Given the description of an element on the screen output the (x, y) to click on. 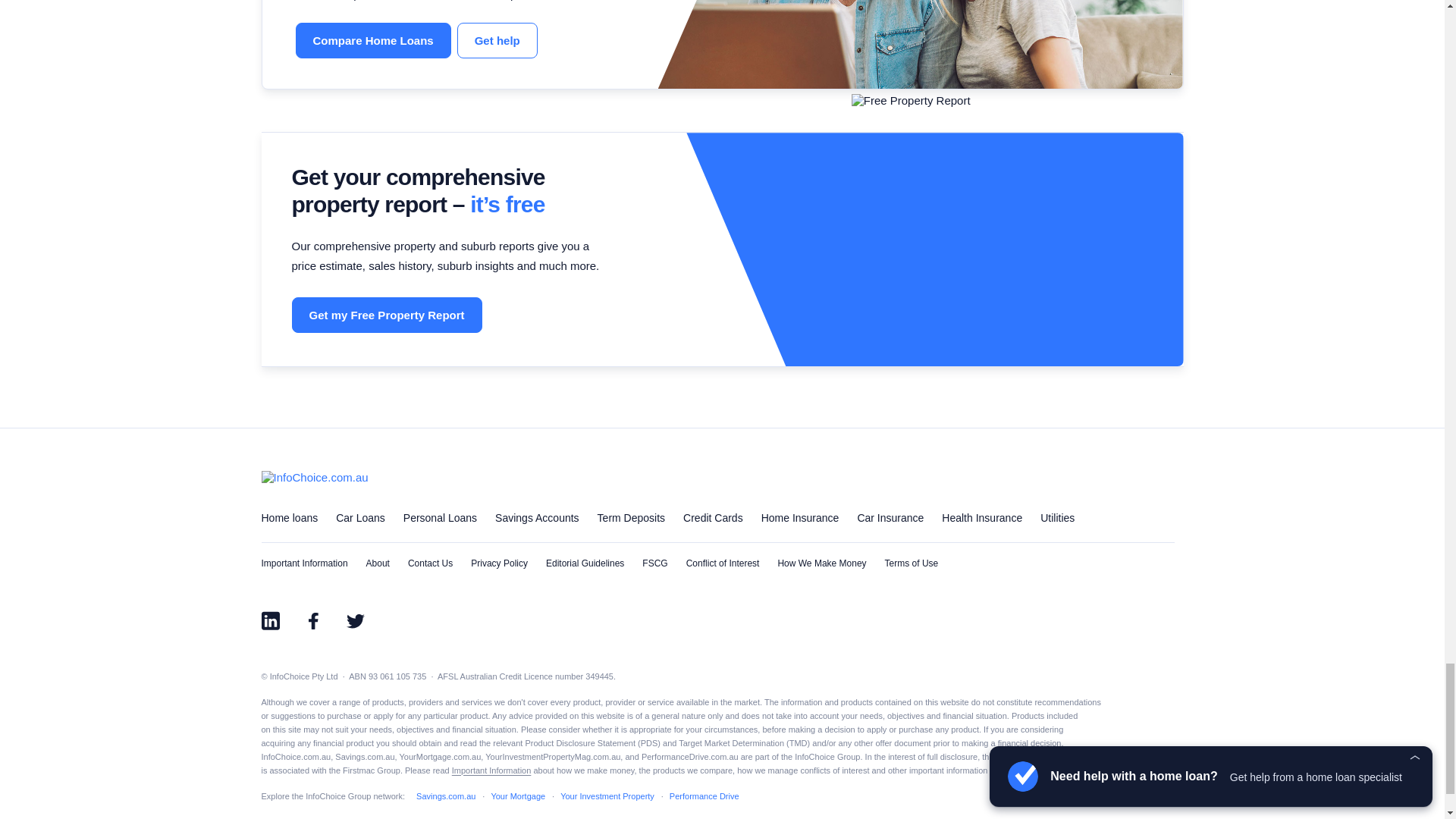
Follow InfoChoice on Facebook (312, 620)
Follow InfoChoice on LinkedIn (269, 620)
Follow InfoChoice on Twitter (354, 620)
